Given the description of an element on the screen output the (x, y) to click on. 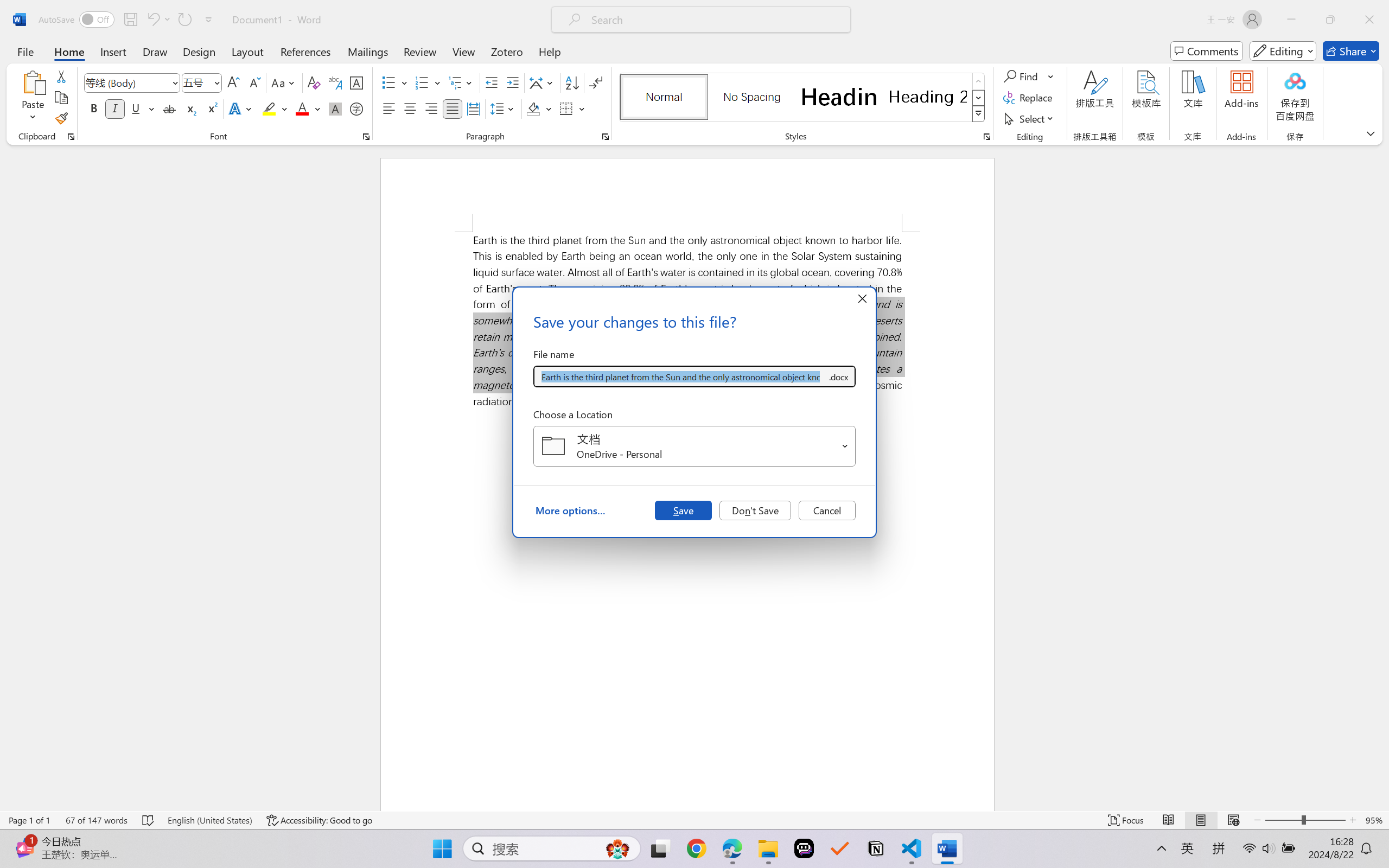
Shrink Font (253, 82)
Shading RGB(0, 0, 0) (533, 108)
Text Highlight Color Yellow (269, 108)
Row Down (978, 97)
Align Left (388, 108)
Sort... (571, 82)
